Given the description of an element on the screen output the (x, y) to click on. 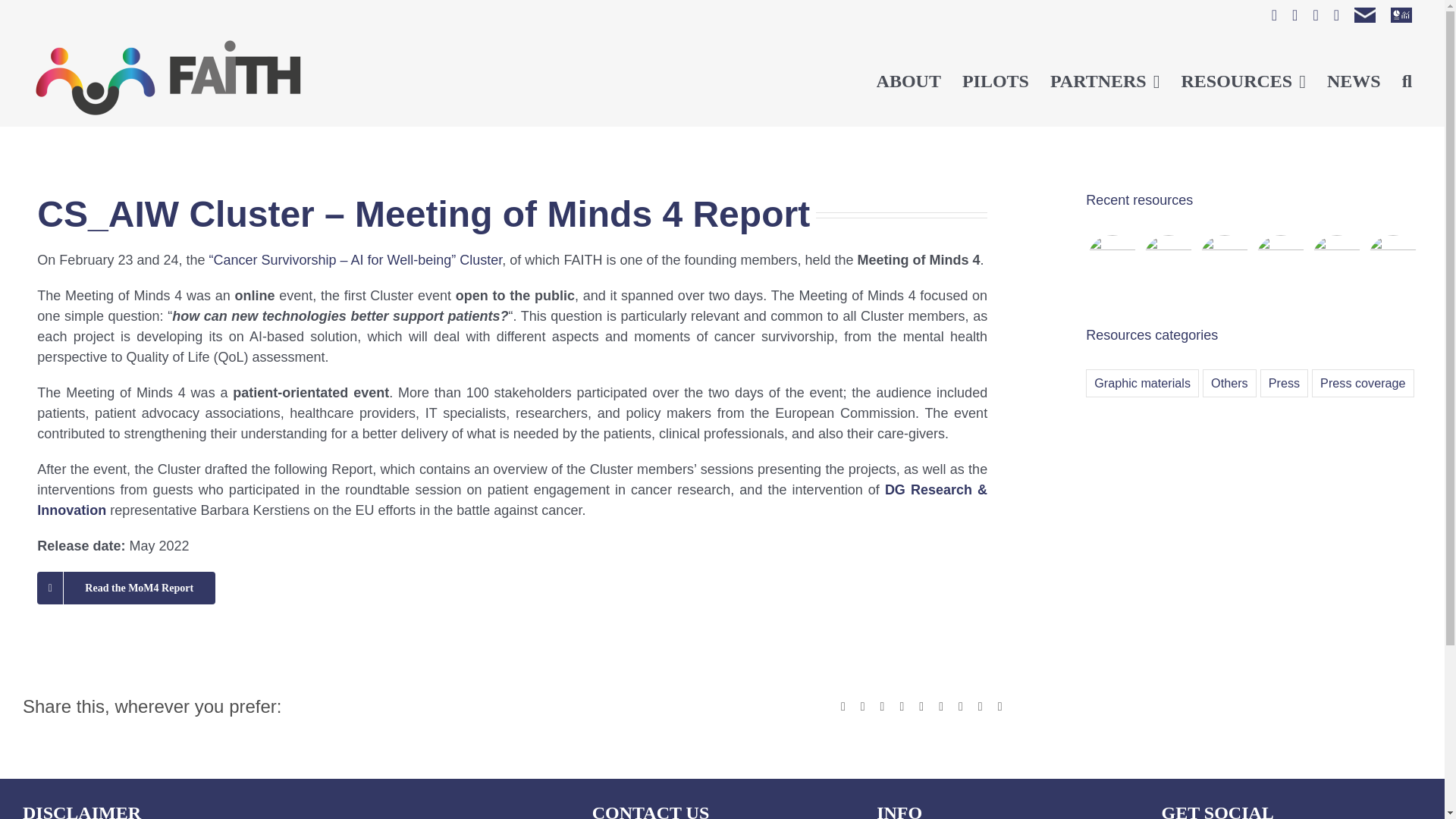
Read the MoM4 Report (126, 587)
RESOURCES (1242, 79)
FAITH Dashboard (1401, 14)
PARTNERS (1104, 79)
Others (1229, 383)
Contacts (1364, 14)
Graphic materials (1142, 383)
Contacts (1364, 14)
FAITH Dashboard (1401, 14)
